Given the description of an element on the screen output the (x, y) to click on. 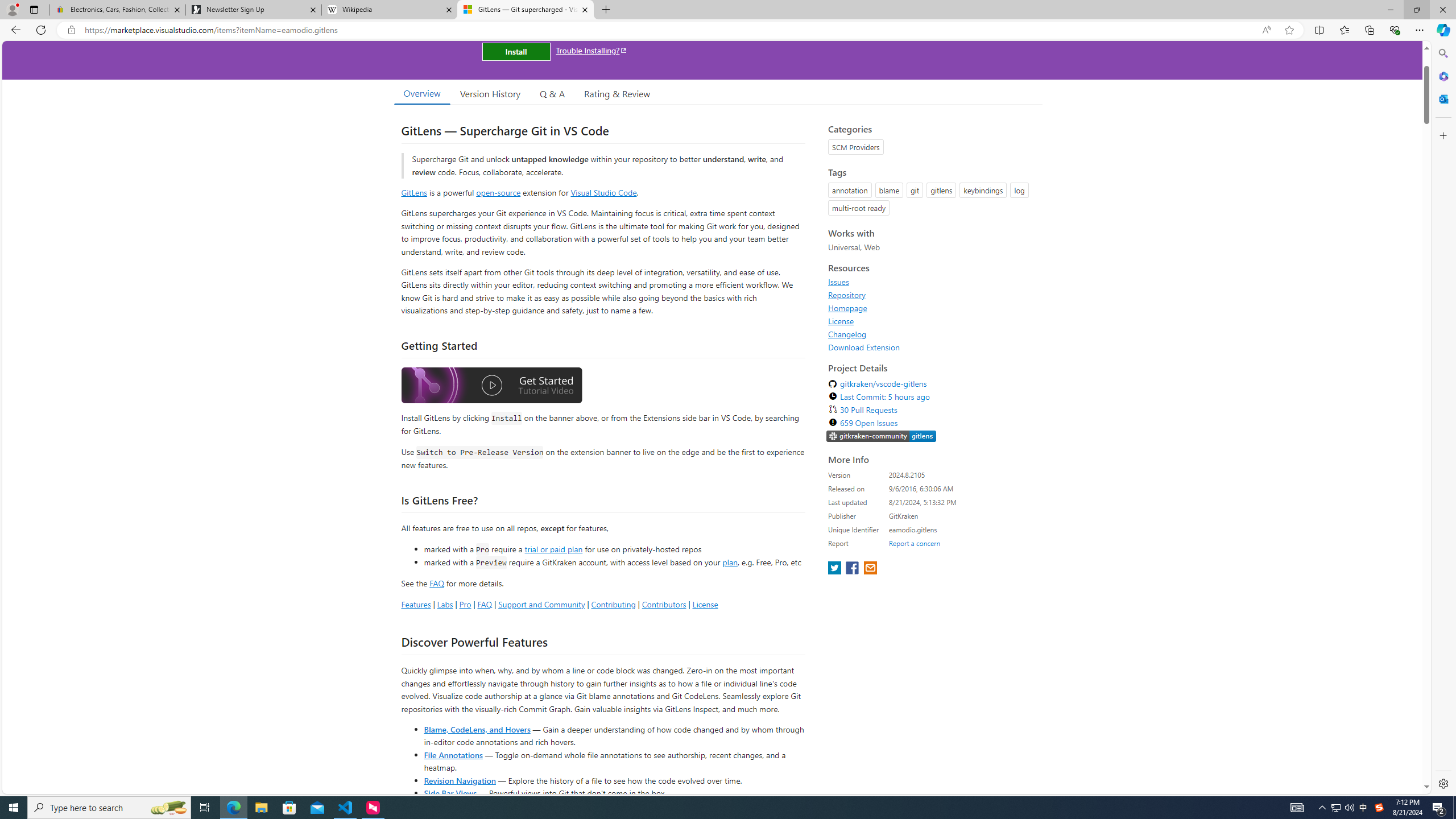
share extension on twitter (835, 568)
Install (515, 51)
Contributing (613, 603)
GitLens (414, 192)
Download Extension (863, 346)
FAQ (484, 603)
